Given the description of an element on the screen output the (x, y) to click on. 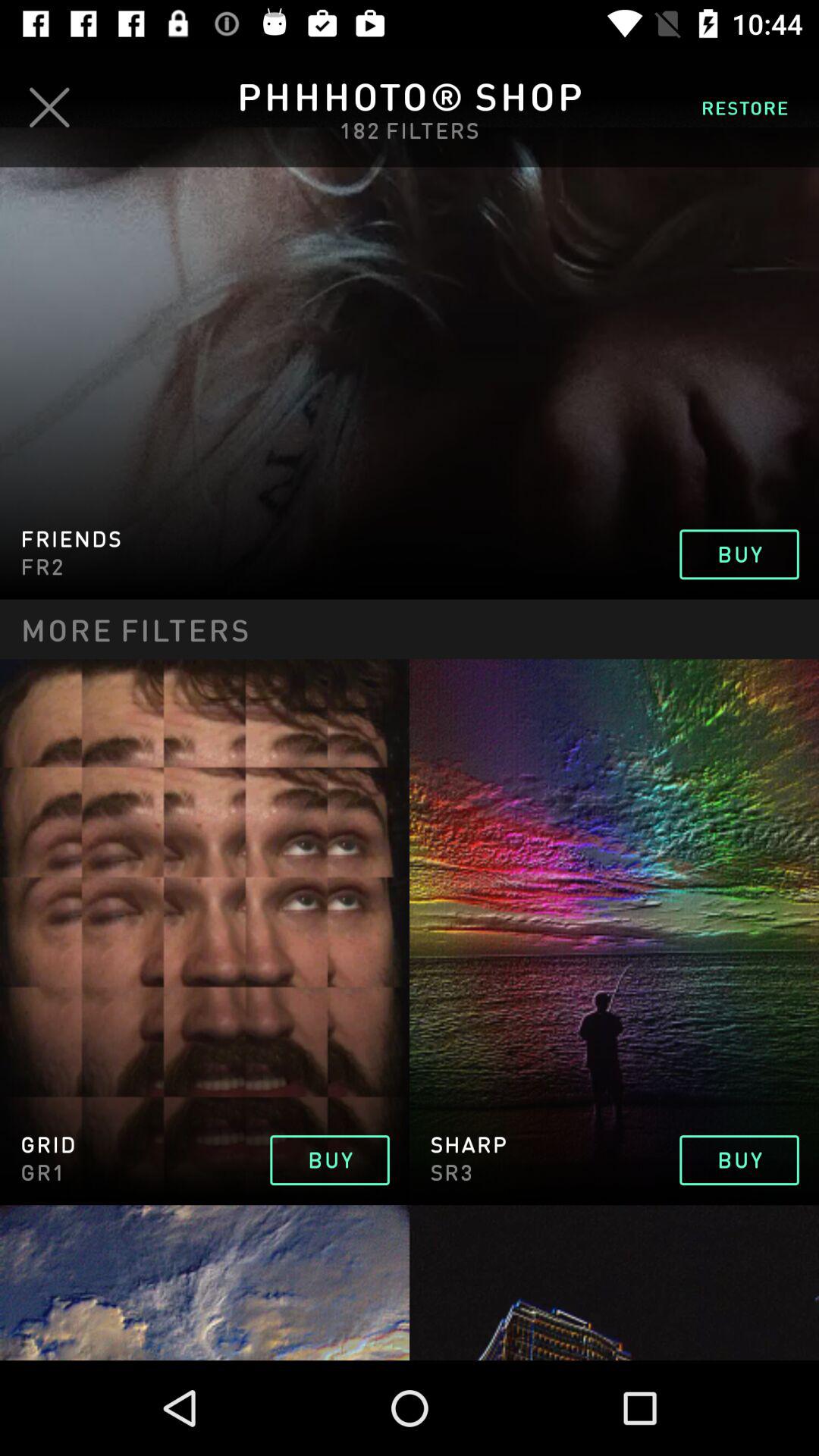
scroll to the restore item (744, 107)
